Given the description of an element on the screen output the (x, y) to click on. 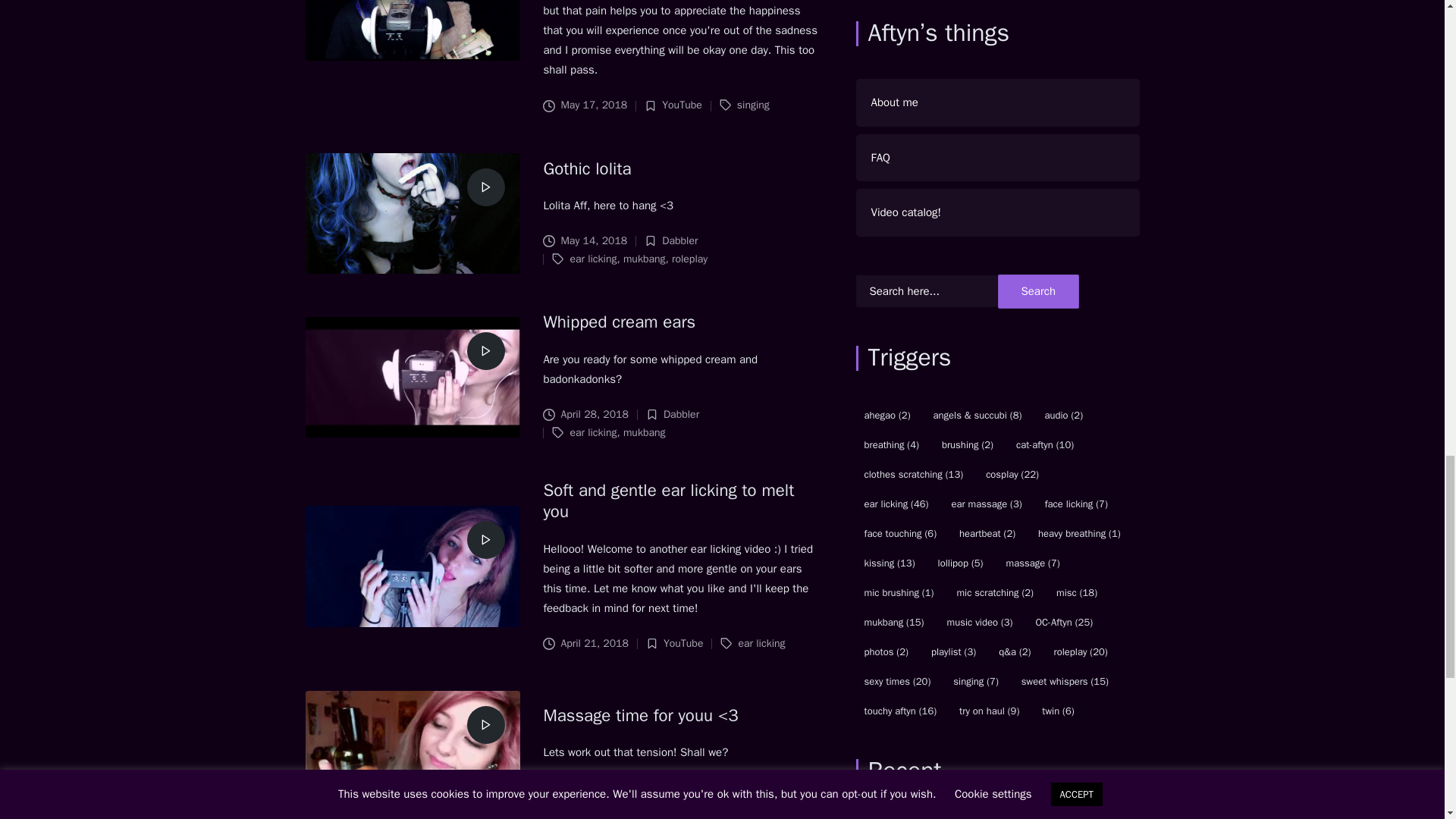
Soft and gentle ear licking to melt you (668, 500)
singing (753, 104)
Gothic lolita (586, 168)
Dabbler (679, 240)
mukbang (644, 258)
YouTube (681, 104)
Whipped cream ears (619, 321)
roleplay (689, 258)
ear licking (592, 431)
Dabbler (680, 413)
Gothic lolita (586, 168)
ear licking (592, 258)
Massage time for youu  (640, 715)
Whipped cream ears (619, 321)
